Given the description of an element on the screen output the (x, y) to click on. 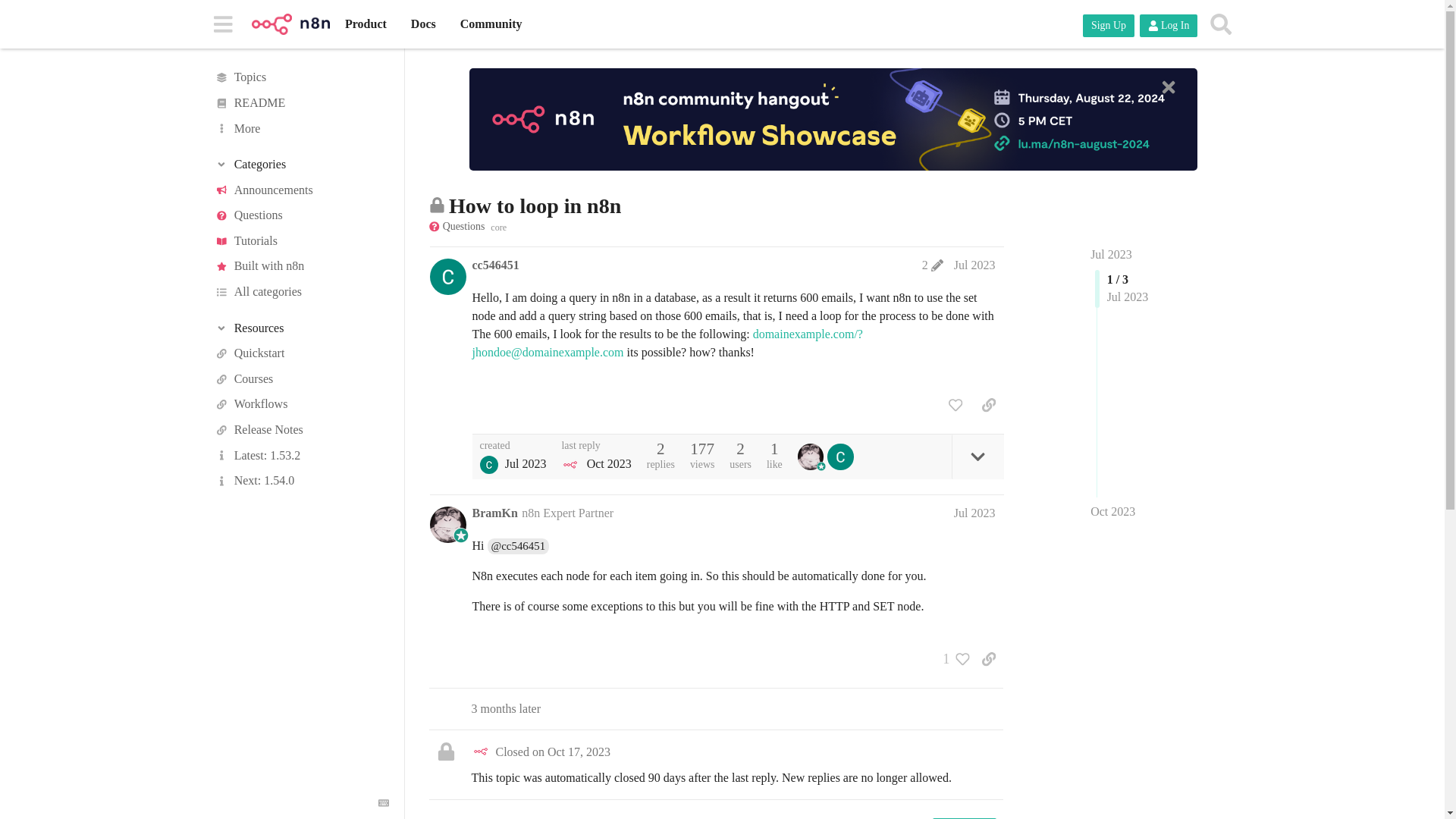
Sign Up (1108, 25)
Workflows (301, 404)
Quickstart (301, 353)
Next: 1.54.0 (301, 481)
Jul 2023 (1111, 254)
Toggle section (301, 328)
Tutorials (301, 240)
Product (366, 24)
Topics (301, 77)
Search (1220, 23)
